Given the description of an element on the screen output the (x, y) to click on. 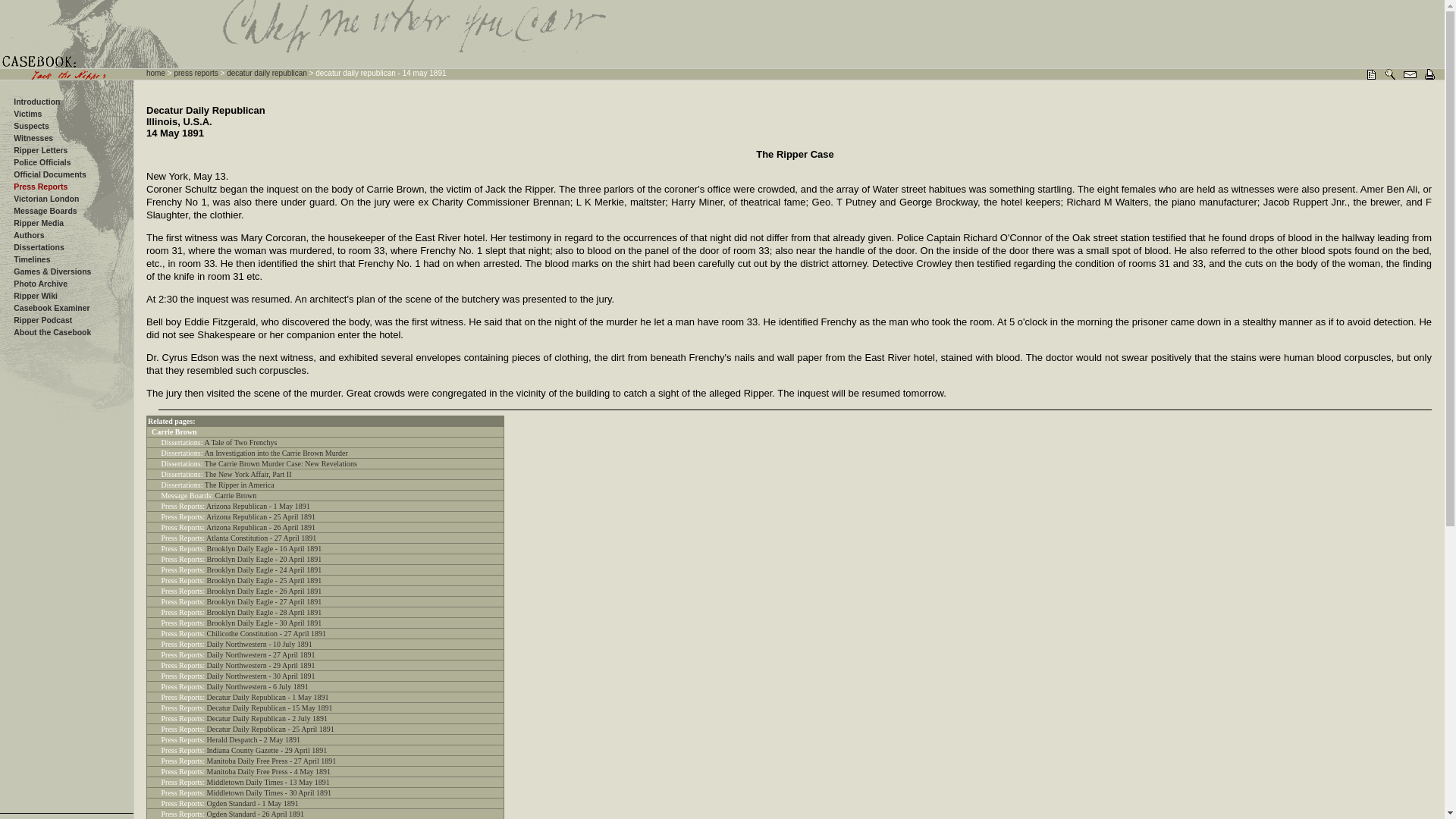
home (156, 72)
Authors (28, 234)
Suspects (31, 125)
Photo Archive (39, 283)
Message Boards (45, 210)
About the Casebook (51, 331)
Victorian London (45, 198)
Ripper Letters (39, 149)
Timelines (31, 258)
Official Documents (49, 174)
